Given the description of an element on the screen output the (x, y) to click on. 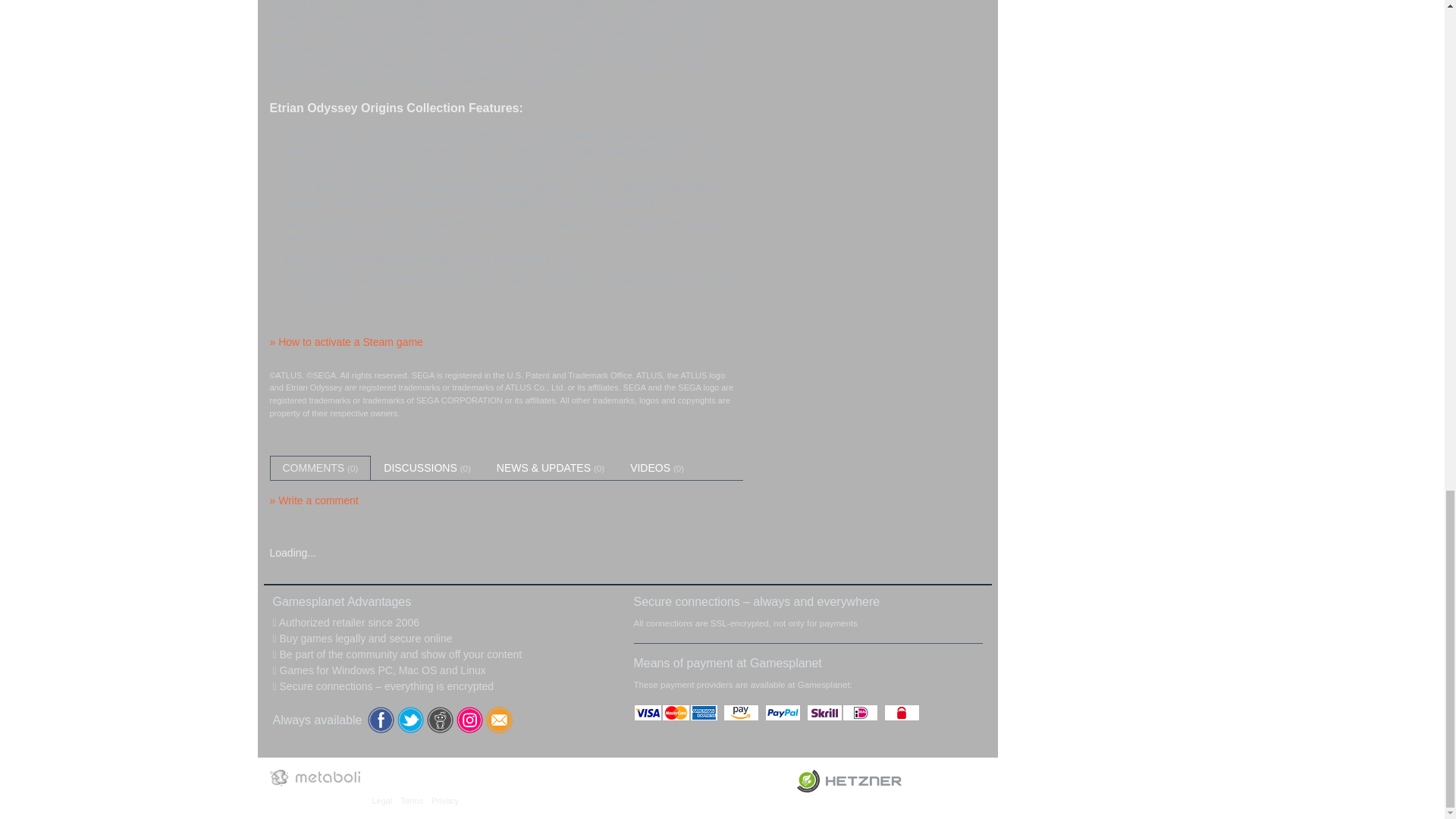
translation missing: en-US.community.tabs.videos (649, 467)
